Given the description of an element on the screen output the (x, y) to click on. 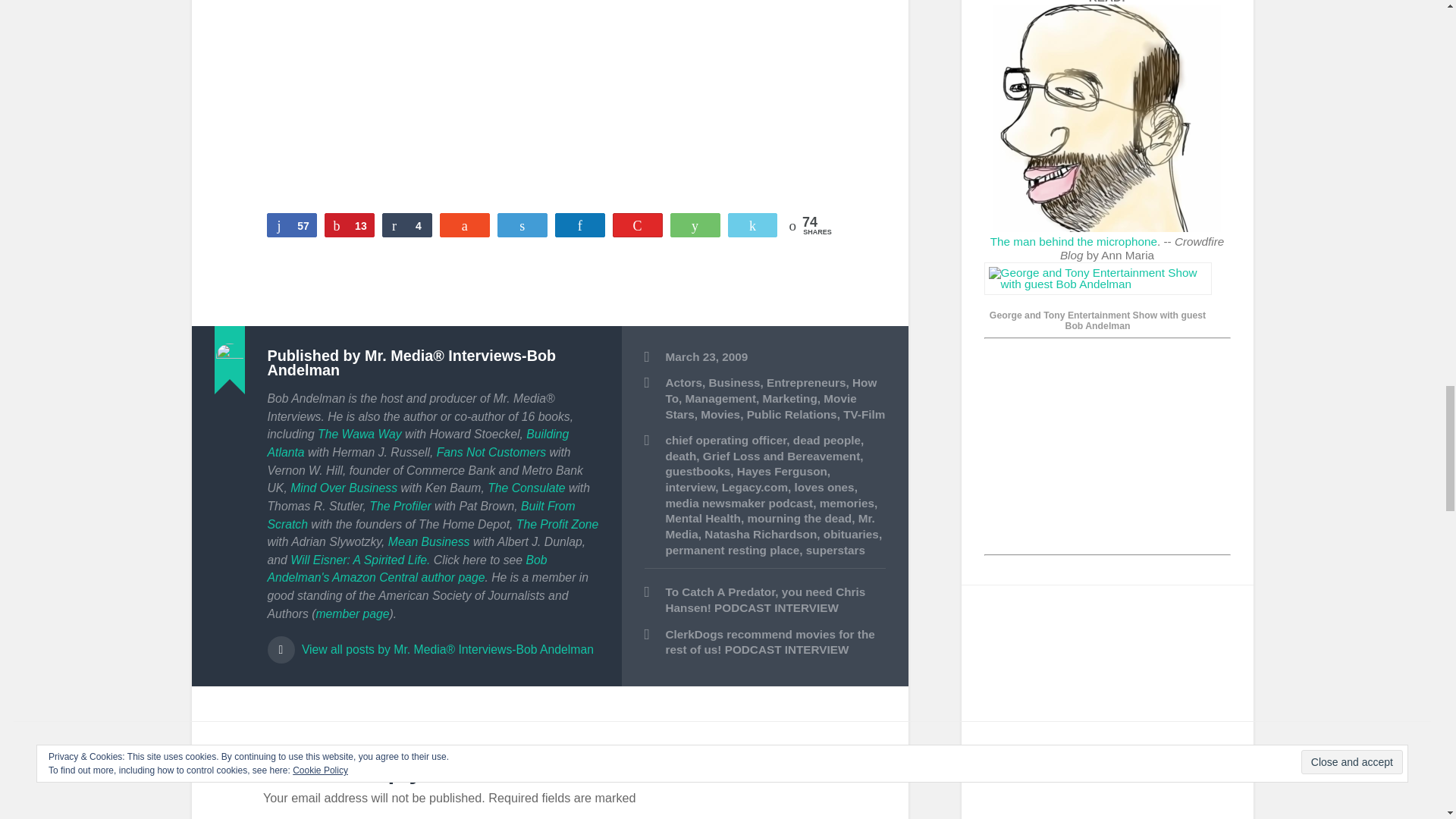
4 (406, 224)
57 (291, 224)
13 (349, 224)
